Given the description of an element on the screen output the (x, y) to click on. 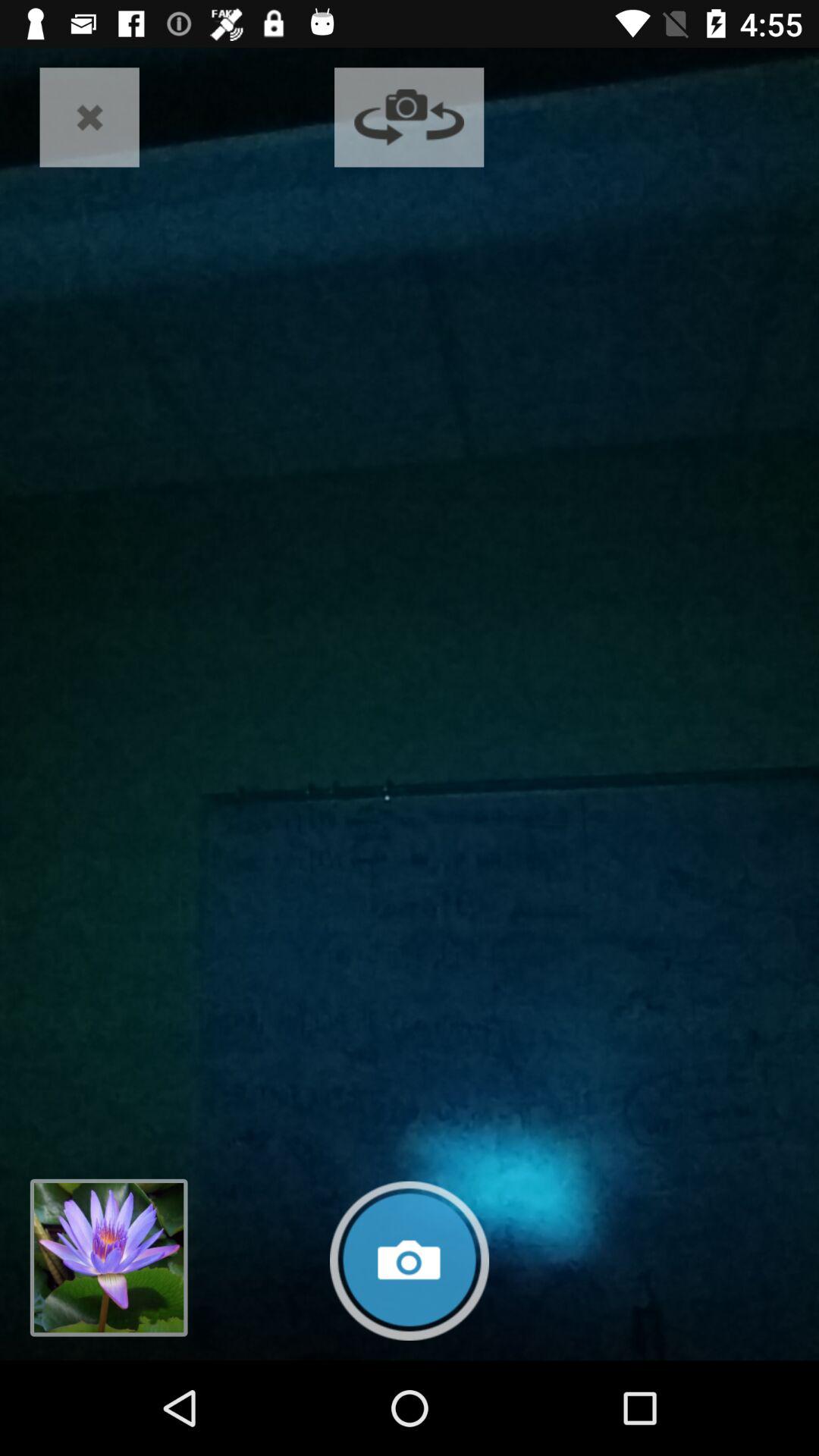
open photo gallery (108, 1257)
